Given the description of an element on the screen output the (x, y) to click on. 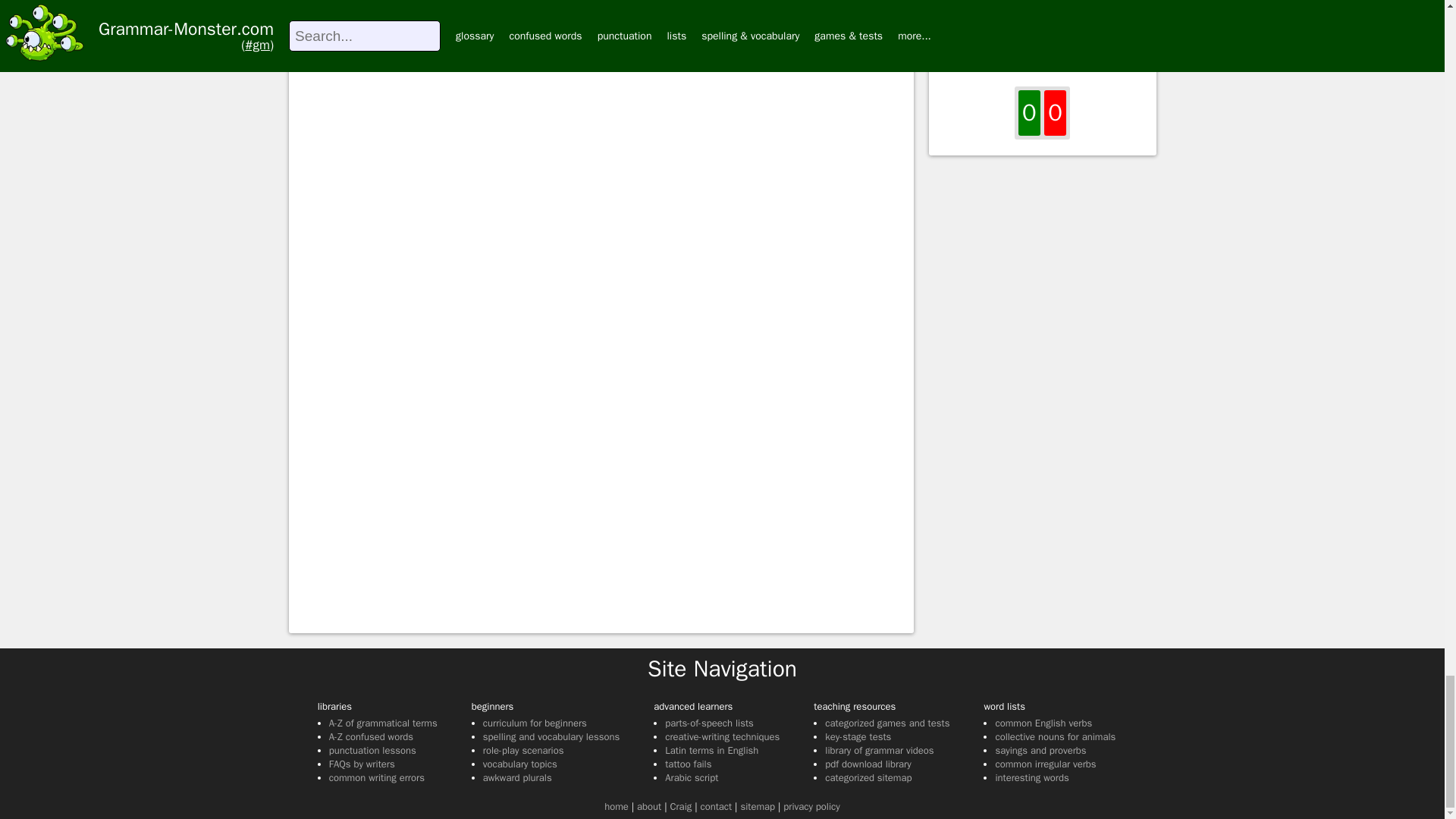
A-Z of grammatical terms (383, 722)
